Given the description of an element on the screen output the (x, y) to click on. 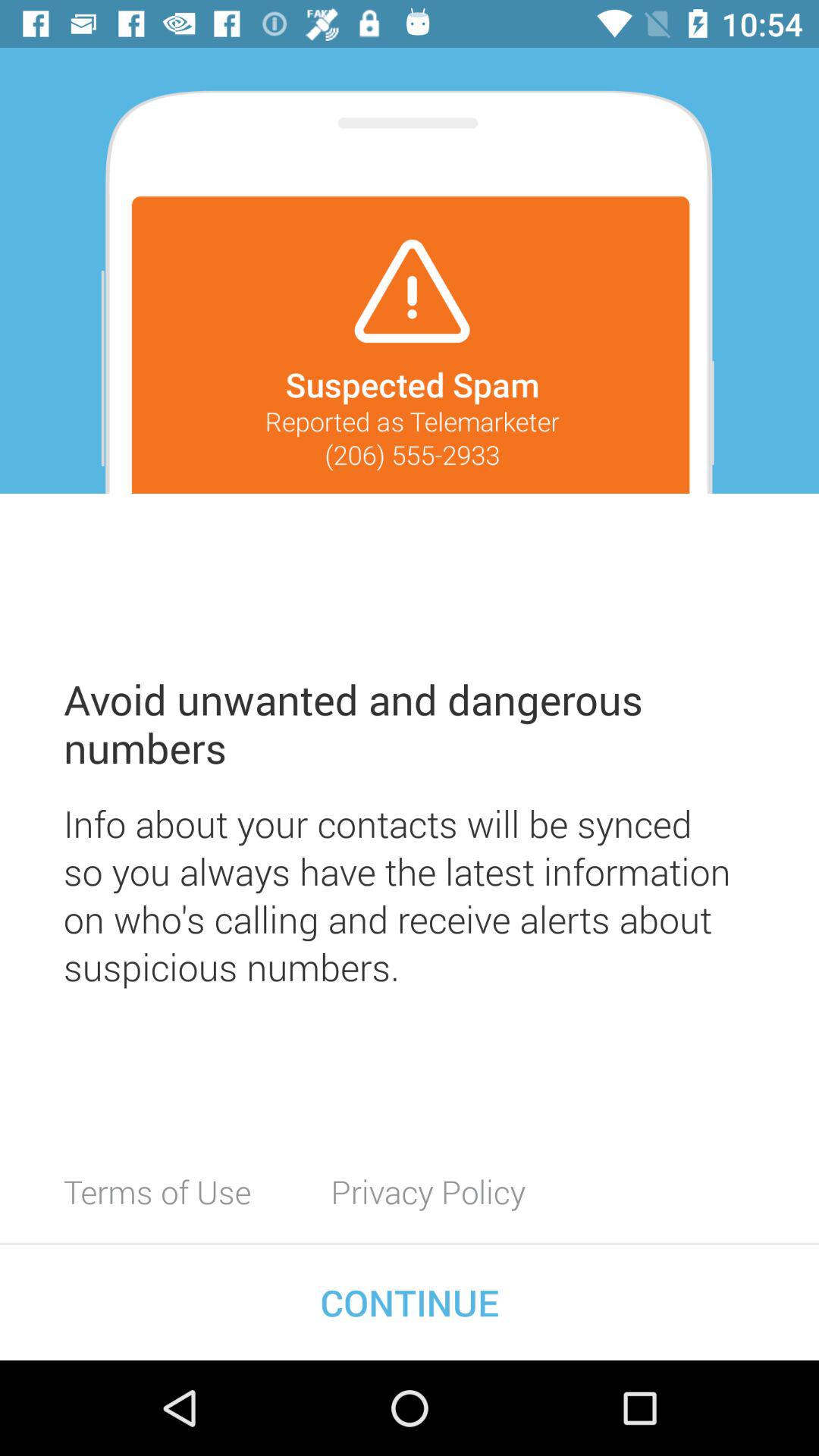
flip until privacy policy item (428, 1191)
